Given the description of an element on the screen output the (x, y) to click on. 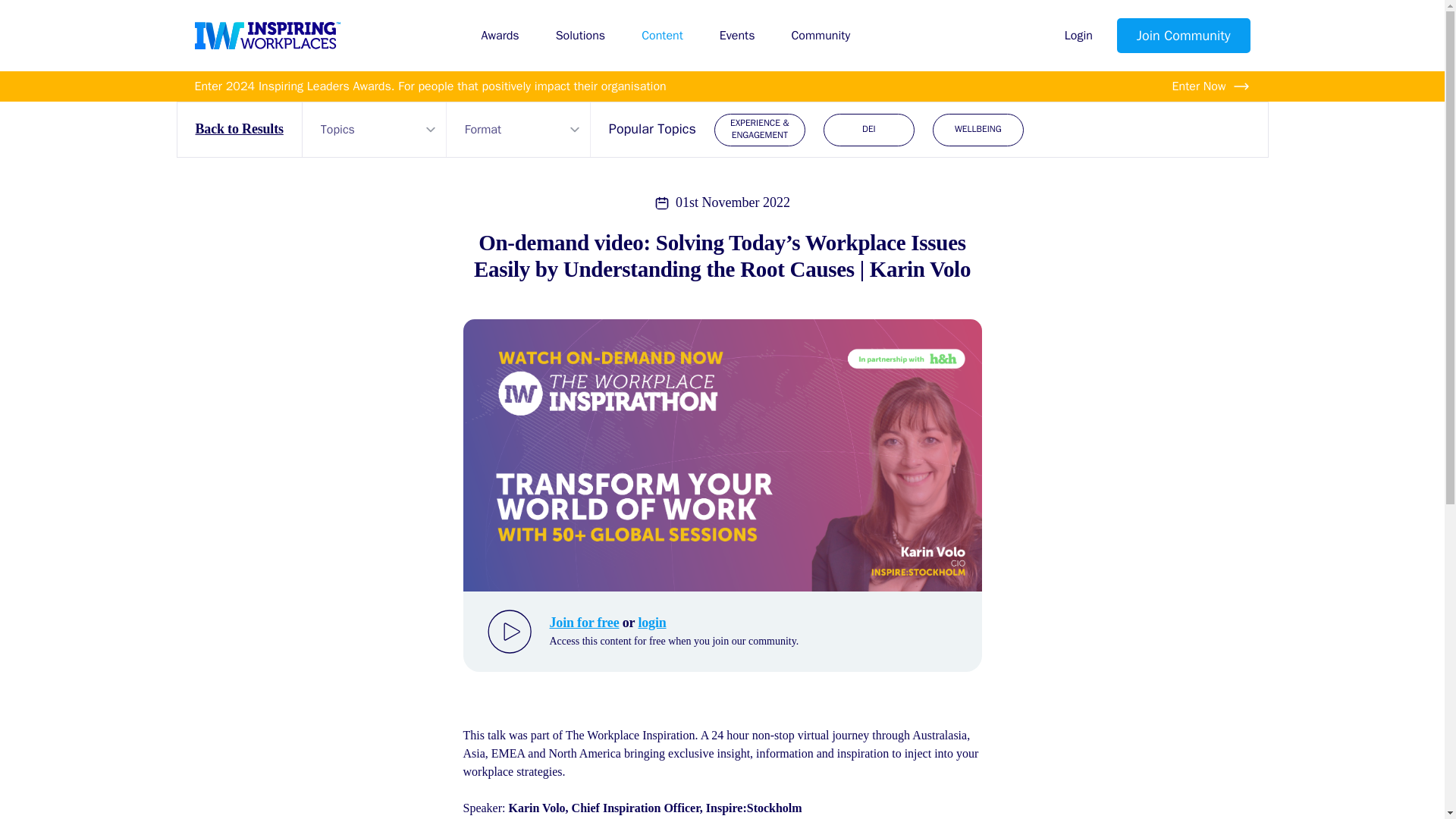
Login (1078, 35)
Join Community (1183, 35)
Awards (499, 35)
Solutions (580, 35)
Content (662, 35)
Events (737, 35)
Community (820, 35)
